Given the description of an element on the screen output the (x, y) to click on. 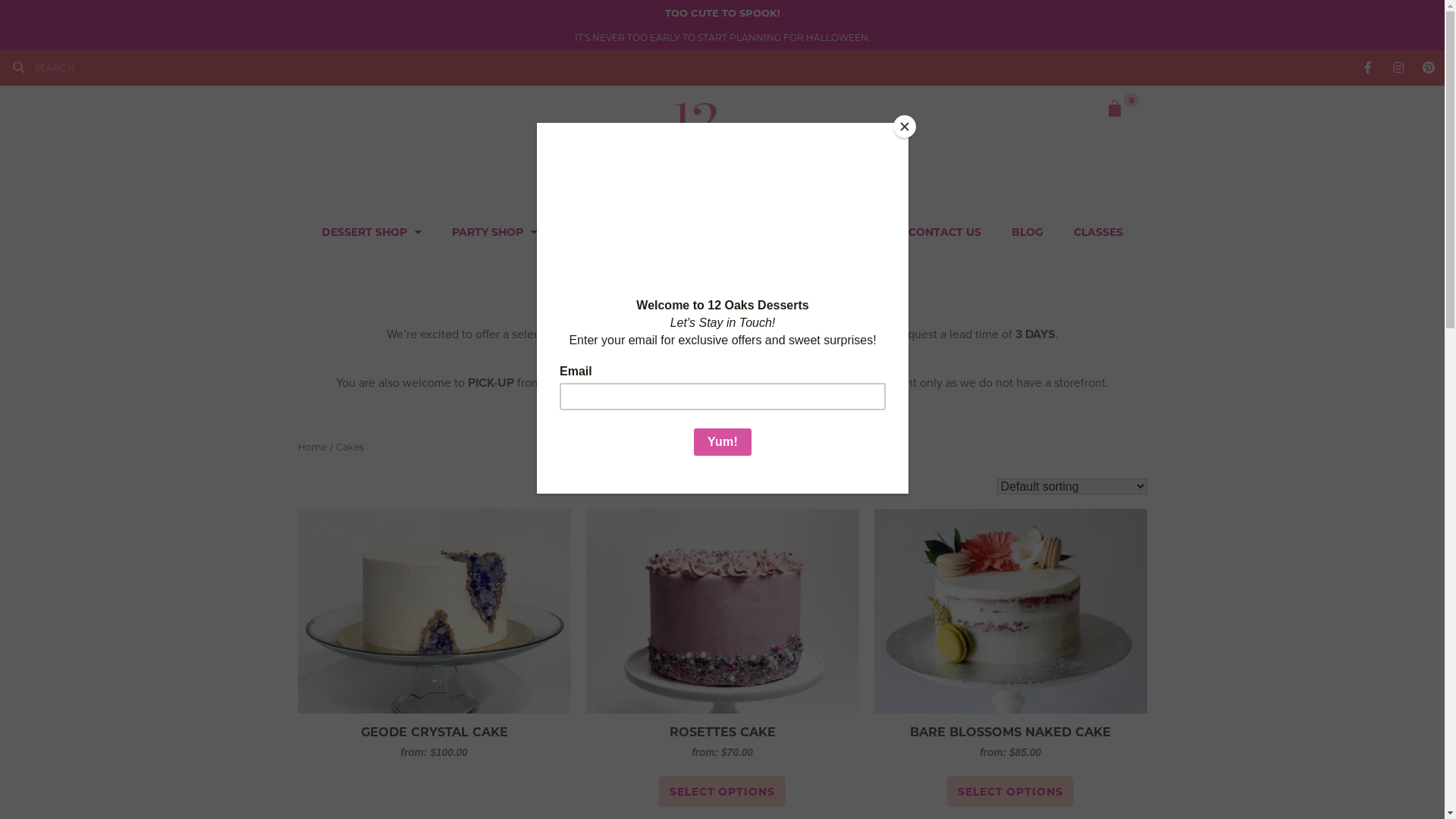
SELECT OPTIONS Element type: text (721, 791)
SELECT OPTIONS Element type: text (1010, 791)
BARE BLOSSOMS NAKED CAKE
$85.00 Element type: text (1009, 634)
GEODE CRYSTAL CAKE
$100.00 Element type: text (433, 634)
BLOG Element type: text (1027, 230)
DESSERT SHOP Element type: text (371, 230)
Search Element type: hover (371, 67)
GALLERY Element type: text (791, 230)
CLASSES Element type: text (1098, 230)
PARTY SHOP Element type: text (494, 230)
FAQS Element type: text (862, 230)
Home Element type: text (311, 446)
CONTACT US Element type: text (944, 230)
ROSETTES CAKE
$70.00 Element type: text (721, 634)
CUSTOM ORDERS & TASTINGS Element type: text (651, 230)
